Given the description of an element on the screen output the (x, y) to click on. 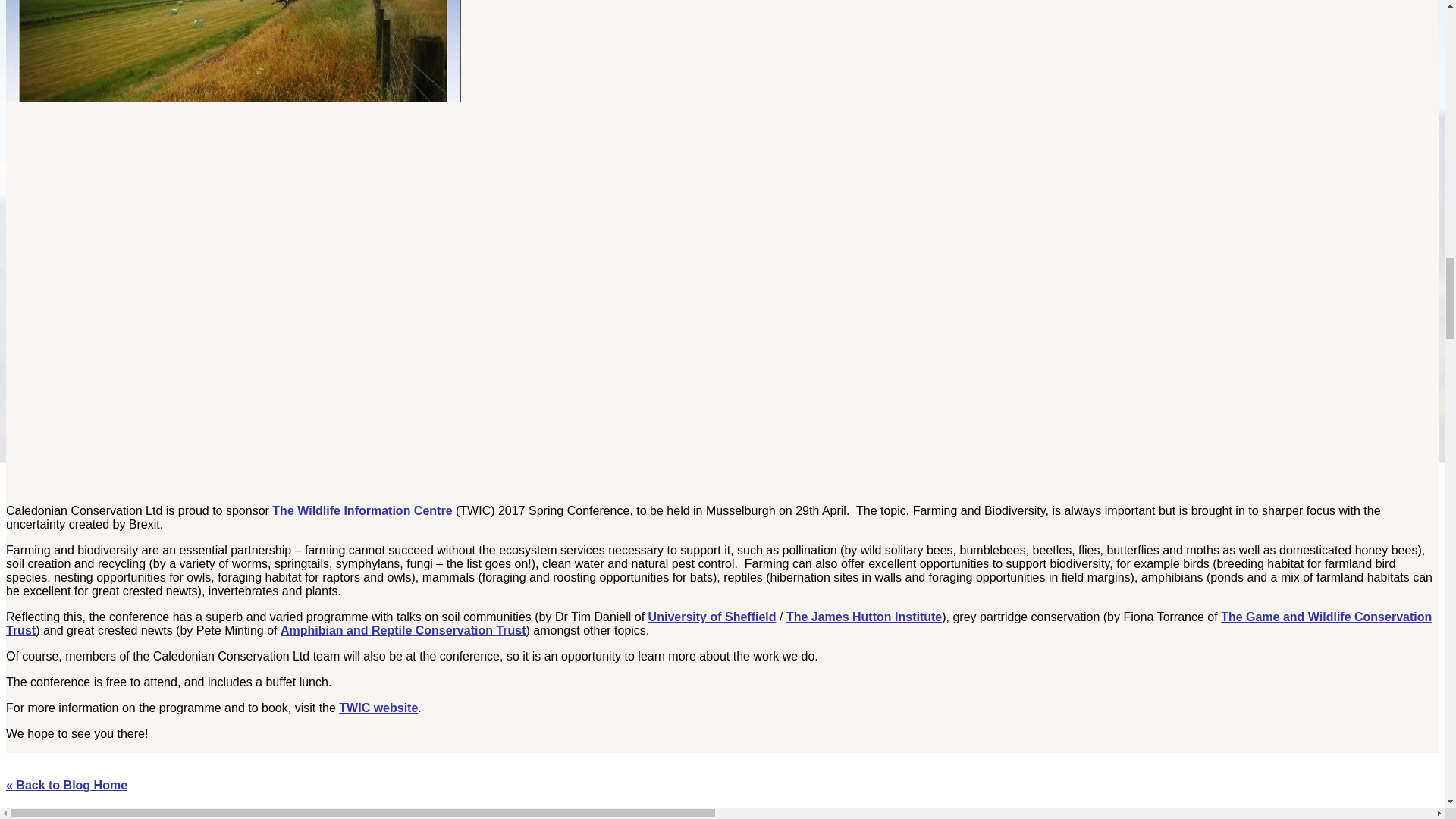
TWIC website (378, 707)
The James Hutton Institute (864, 616)
Amphibian and Reptile Conservation Trust (403, 630)
The Game and Wildlife Conservation Trust (718, 623)
The Wildlife Information Centre (361, 510)
University of Sheffield (711, 616)
